Given the description of an element on the screen output the (x, y) to click on. 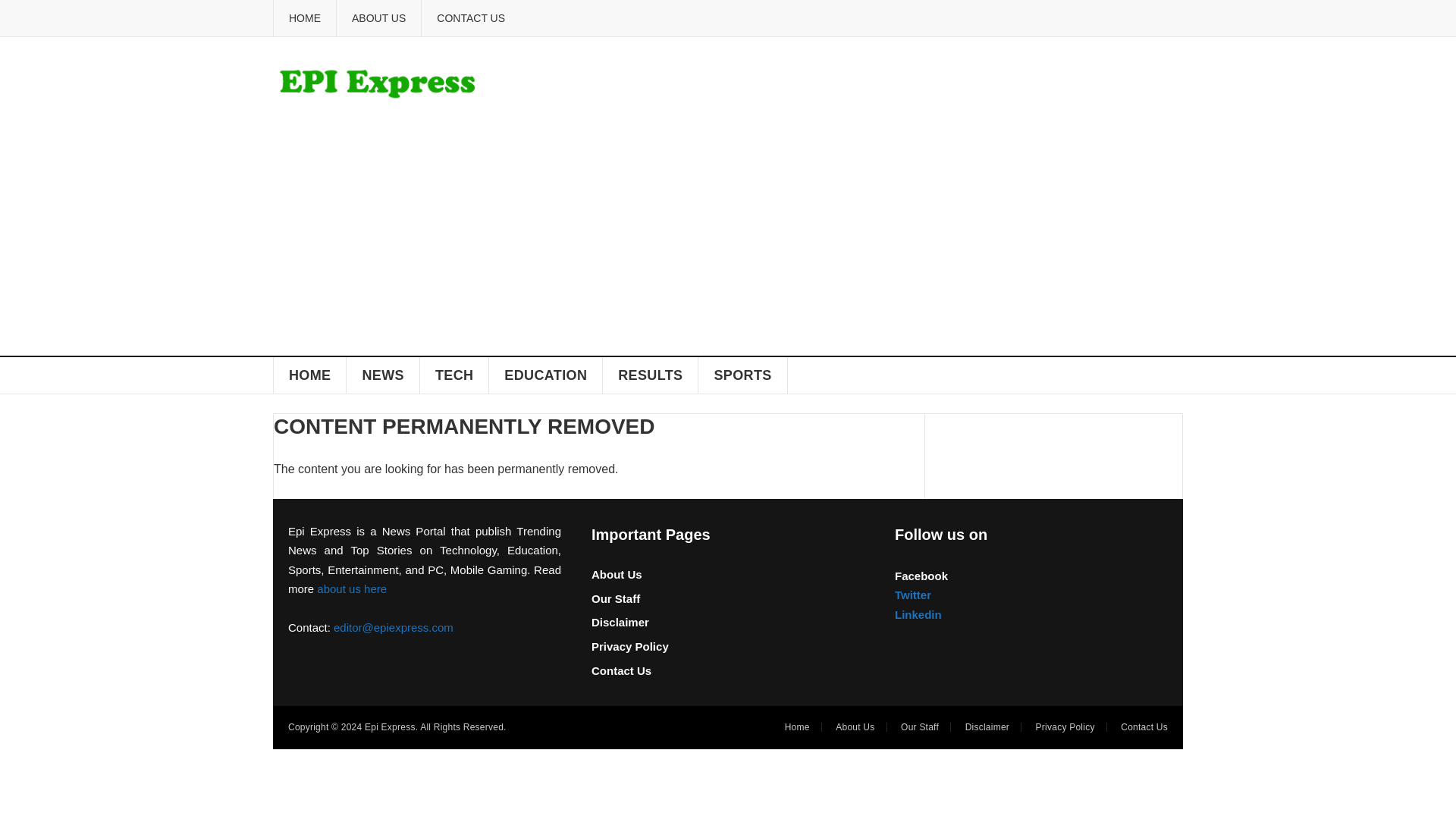
Privacy Policy (1064, 726)
Privacy Policy (629, 645)
Twitter (913, 594)
Epi Express (389, 726)
About Us (616, 574)
Disclaimer (987, 726)
HOME (309, 375)
Linkedin (918, 614)
SPORTS (742, 375)
TECH (454, 375)
Contact Us (620, 670)
About Us (855, 726)
about us here (352, 588)
RESULTS (650, 375)
NEWS (382, 375)
